Given the description of an element on the screen output the (x, y) to click on. 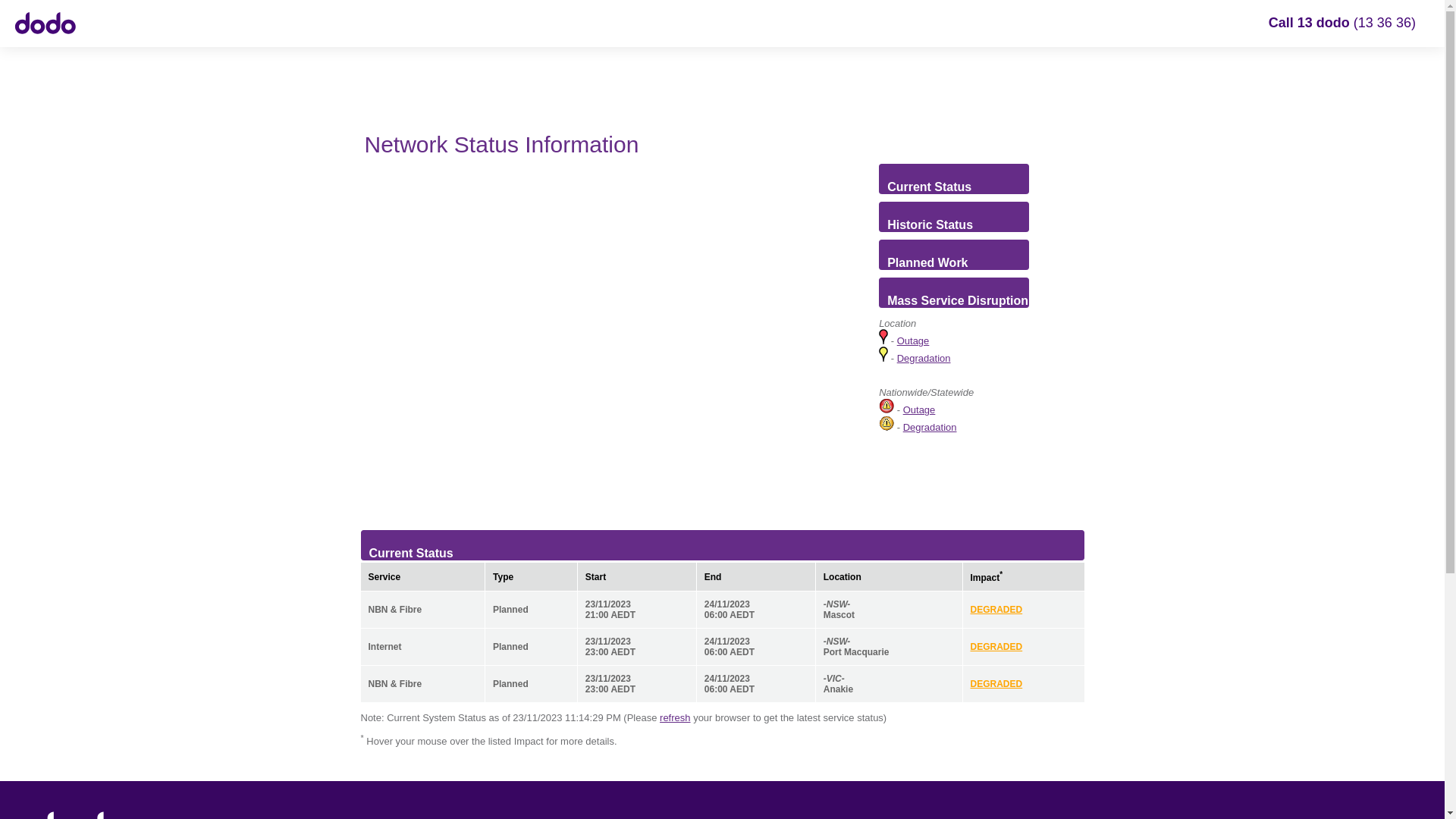
Current Status Element type: text (925, 187)
Historic Status Element type: text (925, 225)
Planned Work Element type: text (923, 263)
Degradation Element type: text (923, 358)
Outage Element type: text (913, 340)
Outage Element type: text (919, 409)
Mass Service Disruption Element type: text (953, 292)
Call 13 dodo (13 36 36) Element type: text (1341, 22)
Degradation Element type: text (930, 427)
refresh Element type: text (674, 717)
